Given the description of an element on the screen output the (x, y) to click on. 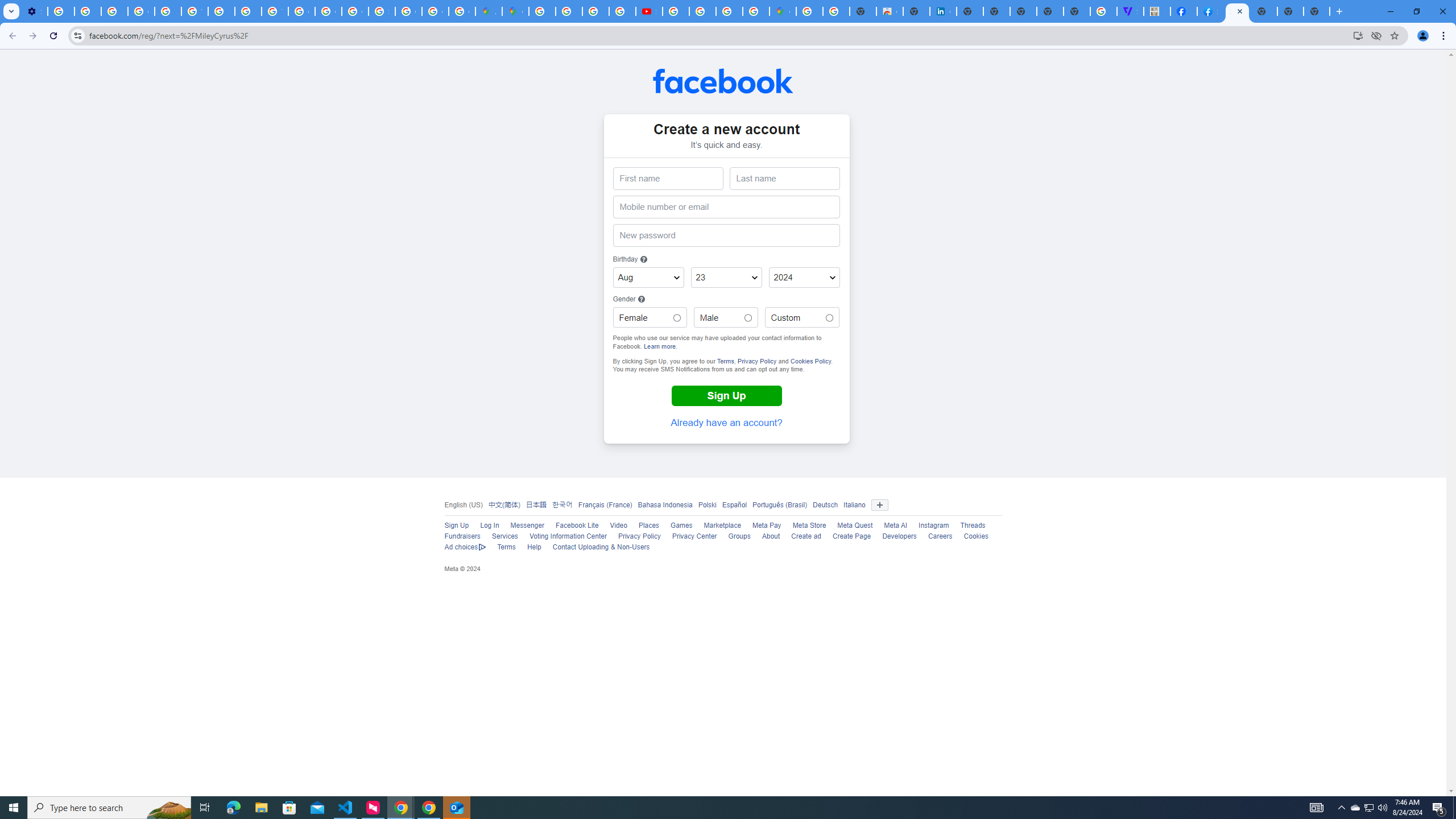
Google Maps (782, 11)
Delete photos & videos - Computer - Google Photos Help (61, 11)
Settings - Customize profile (34, 11)
Show more languages (879, 505)
Services (505, 536)
Cookies (975, 536)
Address and search bar (717, 35)
Marketplace (722, 525)
Streaming - The Verge (1130, 11)
Italiano (854, 504)
Subscriptions - YouTube (649, 11)
